Given the description of an element on the screen output the (x, y) to click on. 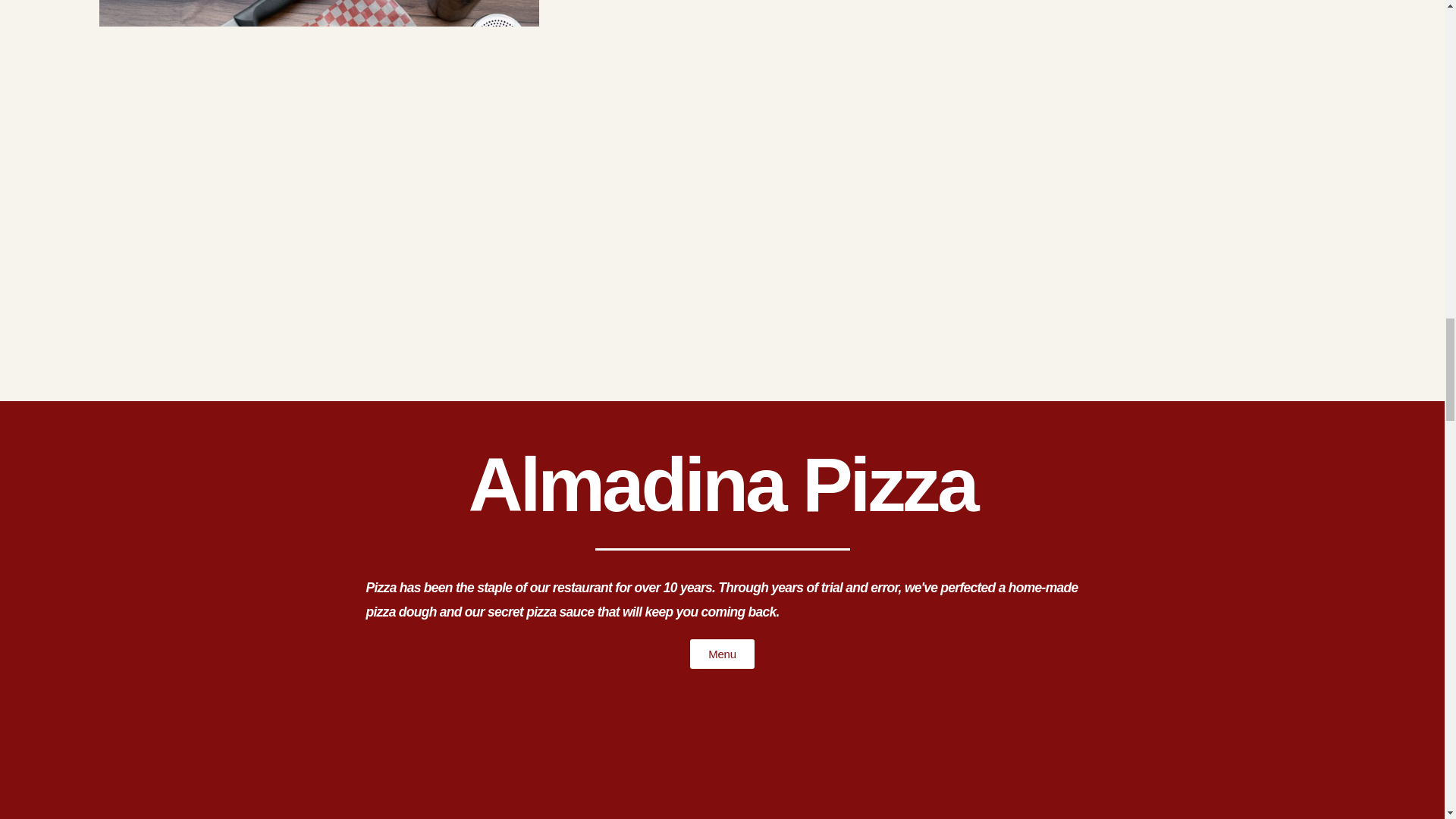
Menu (722, 654)
